Given the description of an element on the screen output the (x, y) to click on. 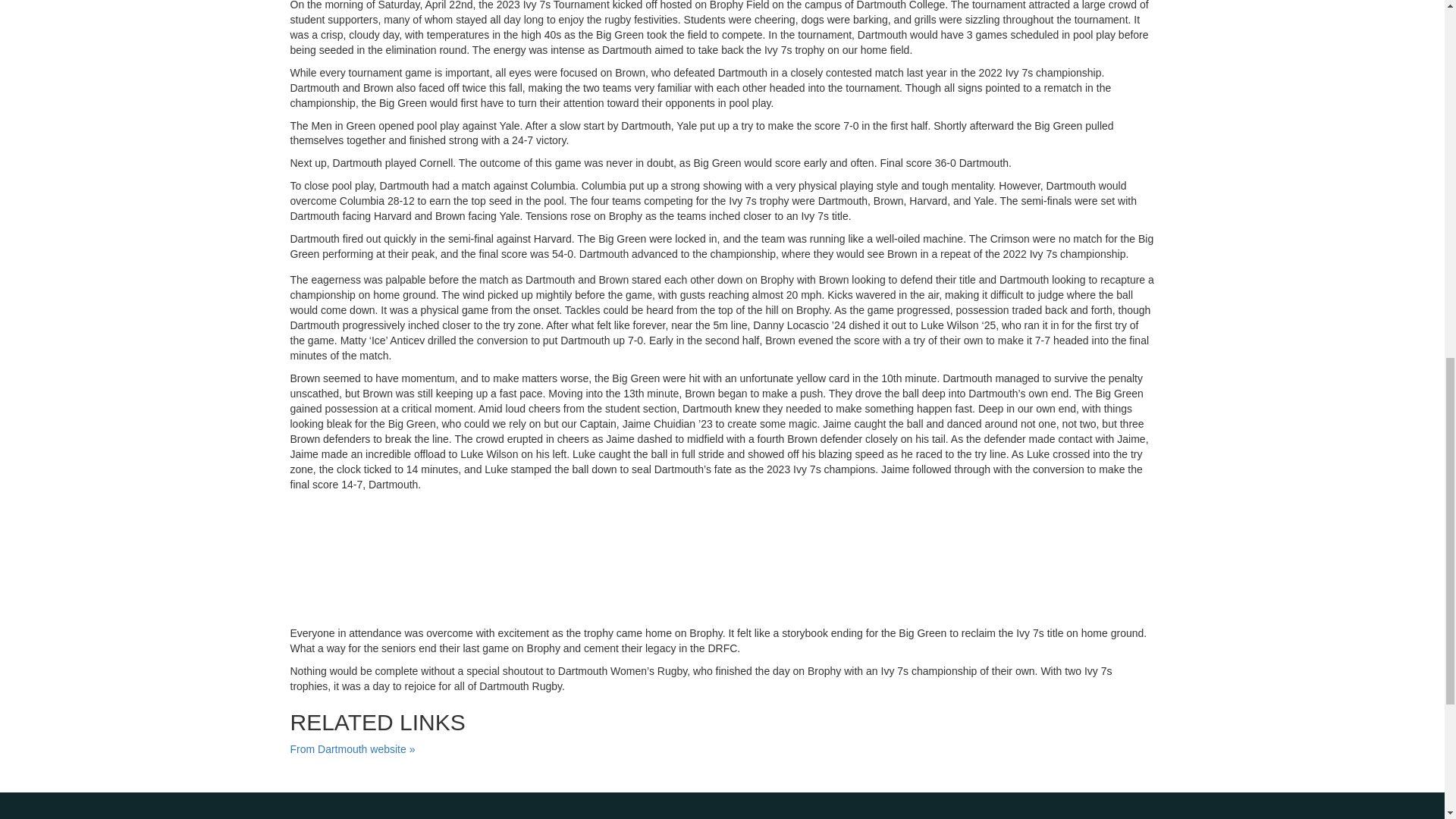
Ivy 7s 2023 at Dartmouth (721, 557)
